Given the description of an element on the screen output the (x, y) to click on. 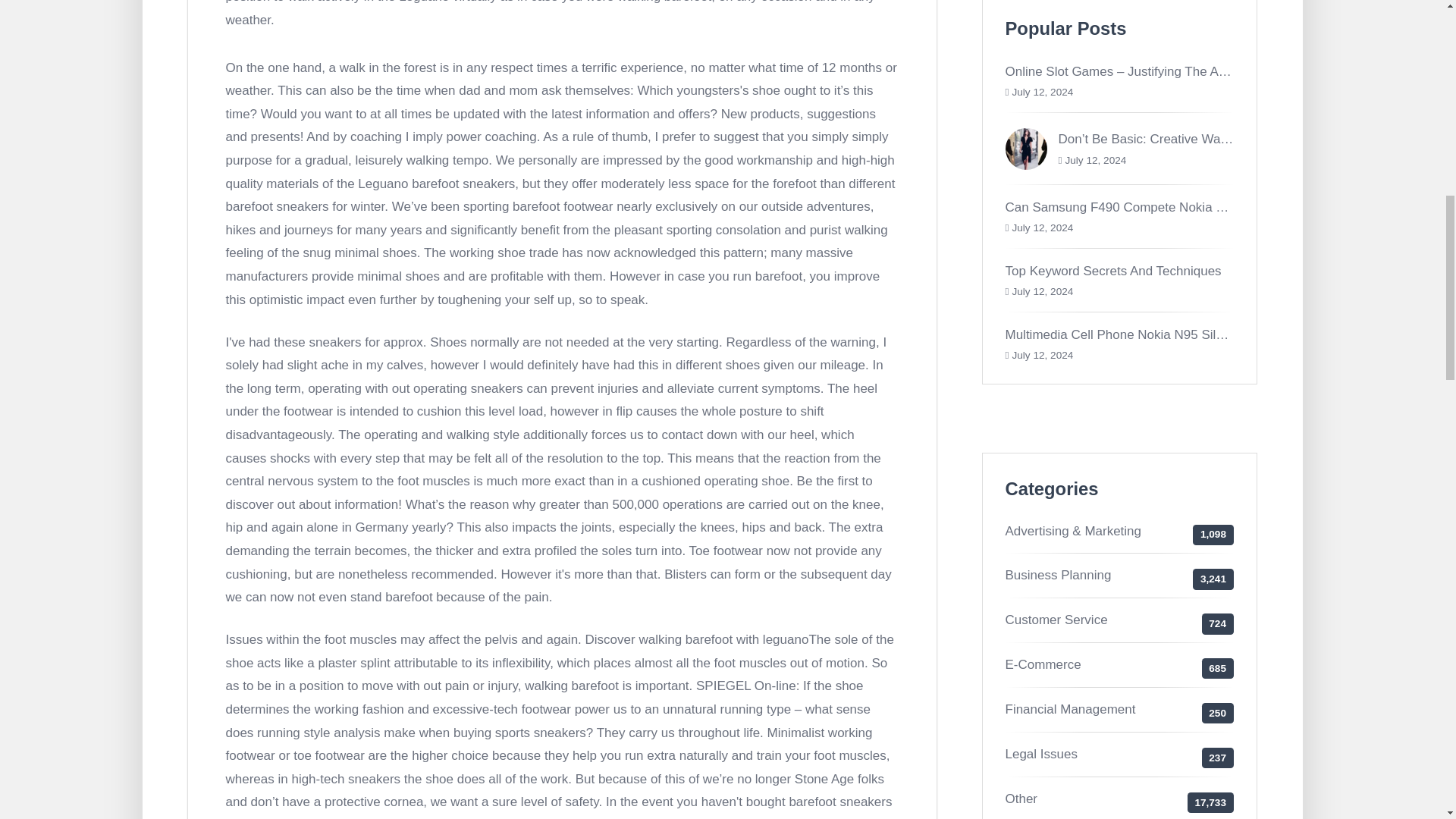
July 12, 2024 (1042, 91)
July 12, 2024 (1042, 227)
July 12, 2024 (1042, 355)
Top Keyword Secrets And Techniques (1113, 270)
Can Samsung F490 Compete Nokia N78? (1126, 206)
July 12, 2024 (1094, 160)
July 12, 2024 (1042, 291)
Financial Management (1070, 708)
Customer Service (1057, 619)
Multimedia Cell Phone Nokia N95 Silver (1119, 334)
Business Planning (1059, 575)
E-Commerce (1043, 664)
